Given the description of an element on the screen output the (x, y) to click on. 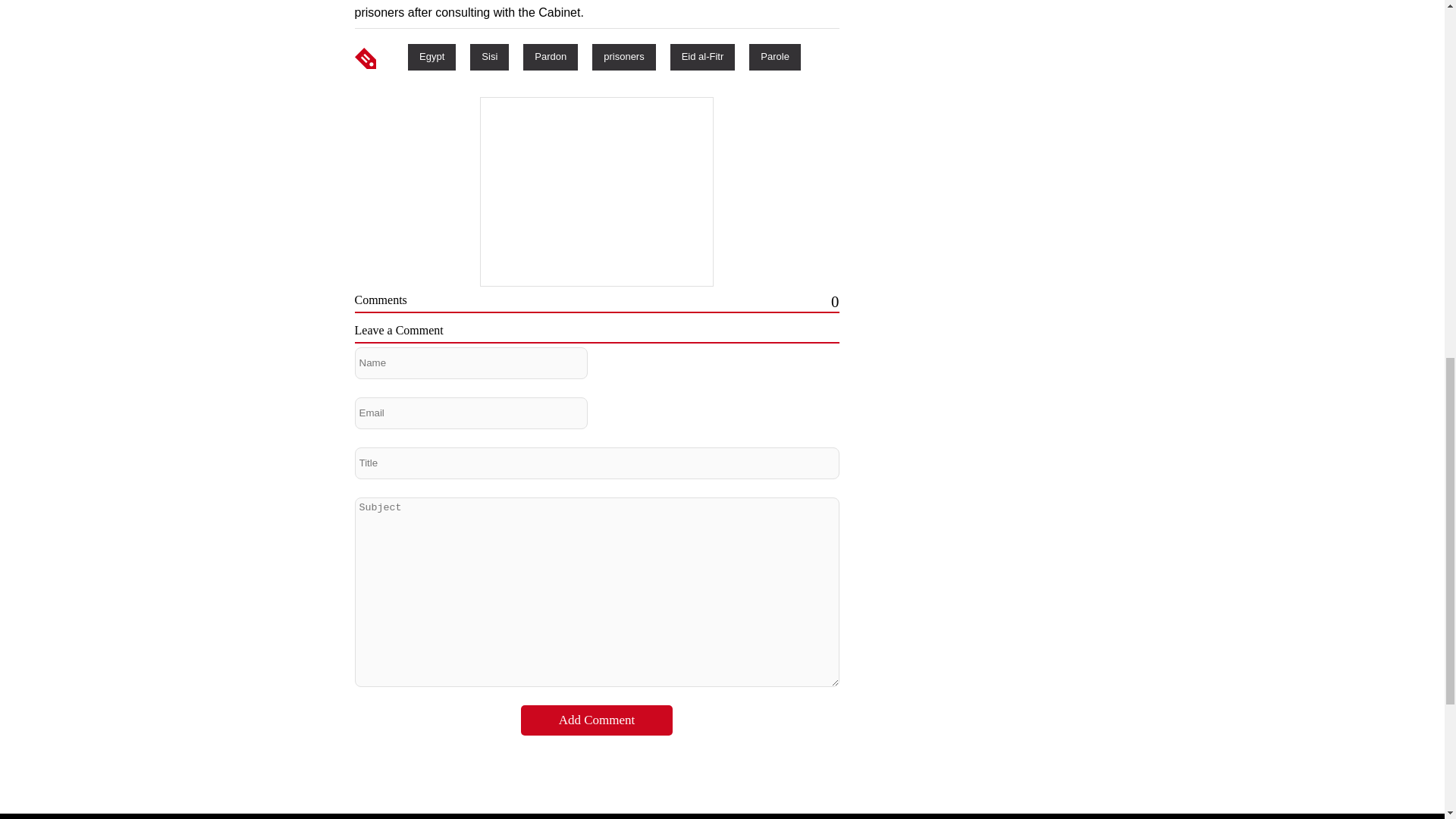
Pardon (550, 56)
Egypt (431, 56)
Parole (774, 56)
prisoners (623, 56)
Sisi (489, 56)
Eid al-Fitr (702, 56)
Add Comment (596, 720)
